Given the description of an element on the screen output the (x, y) to click on. 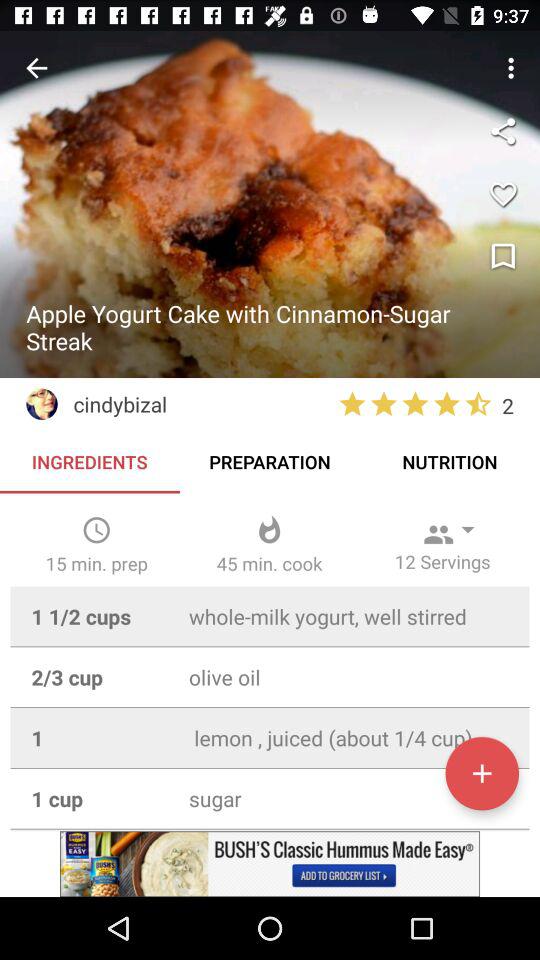
bookmark recipe (503, 257)
